Given the description of an element on the screen output the (x, y) to click on. 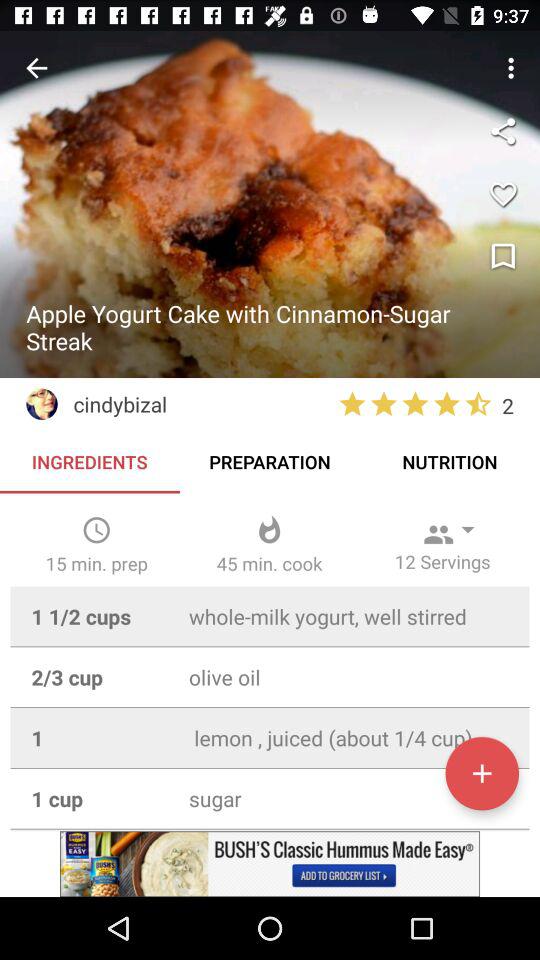
bookmark recipe (503, 257)
